Given the description of an element on the screen output the (x, y) to click on. 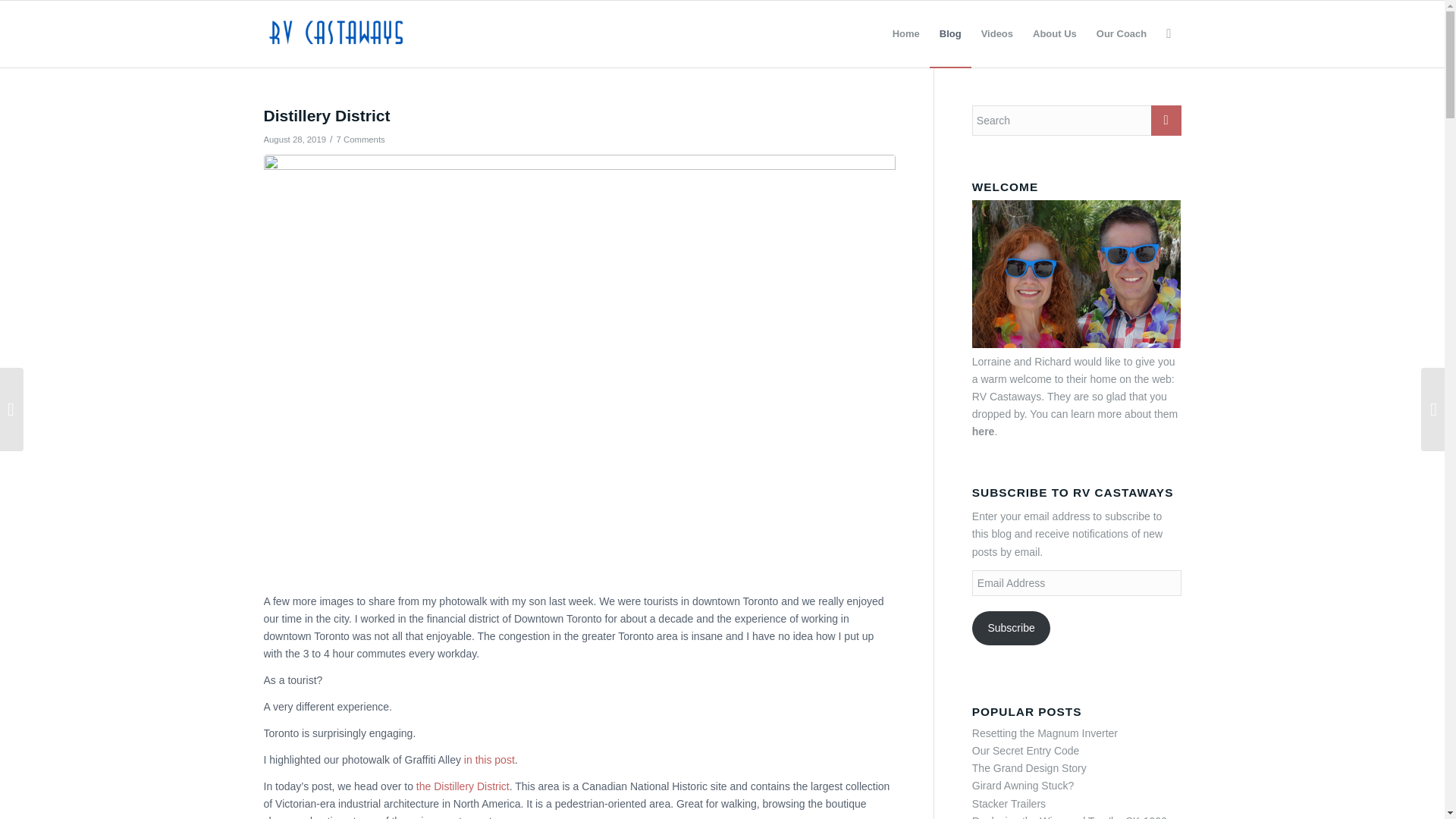
7 Comments (360, 139)
in this post (489, 759)
About Us (1054, 33)
Our Coach (1121, 33)
the Distillery District (462, 786)
